Given the description of an element on the screen output the (x, y) to click on. 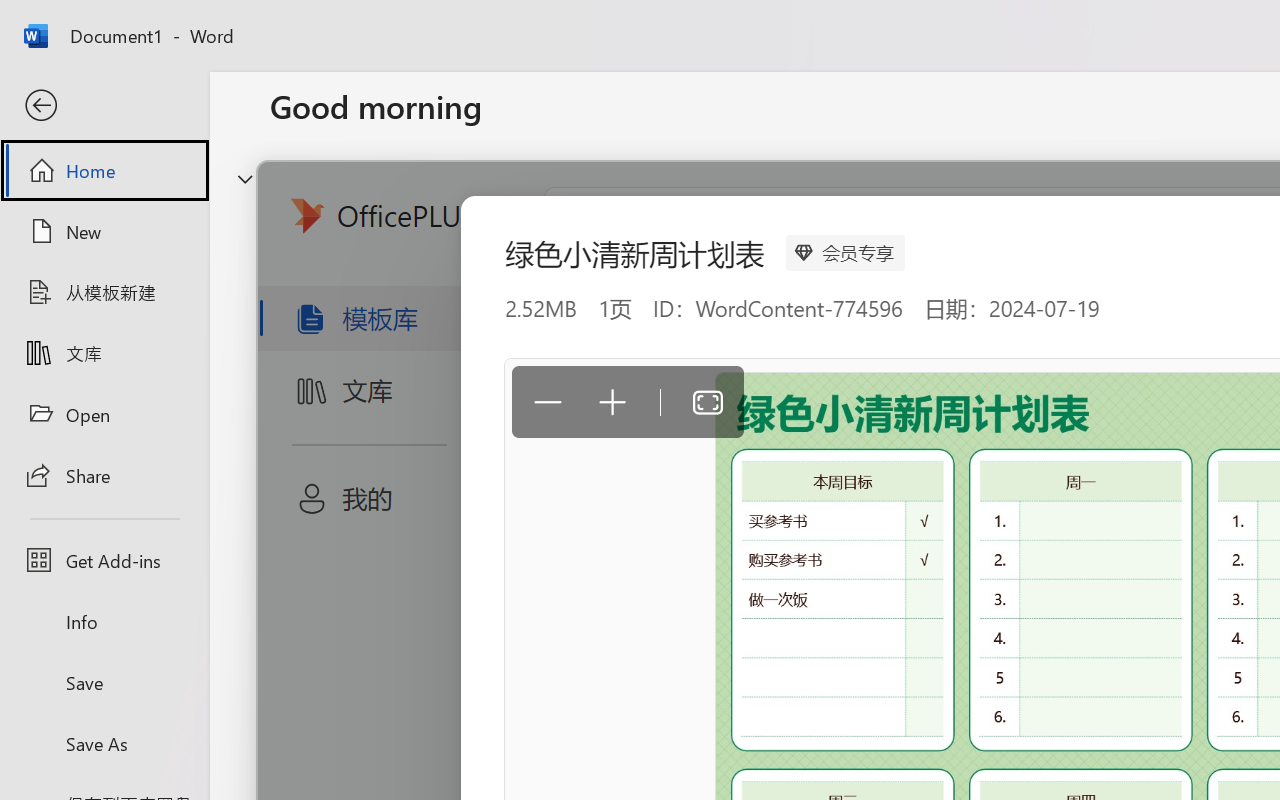
Blank document (405, 332)
Hide or show region (245, 178)
Info (104, 621)
Shared with Me (563, 636)
Pinned (417, 636)
New (104, 231)
